Given the description of an element on the screen output the (x, y) to click on. 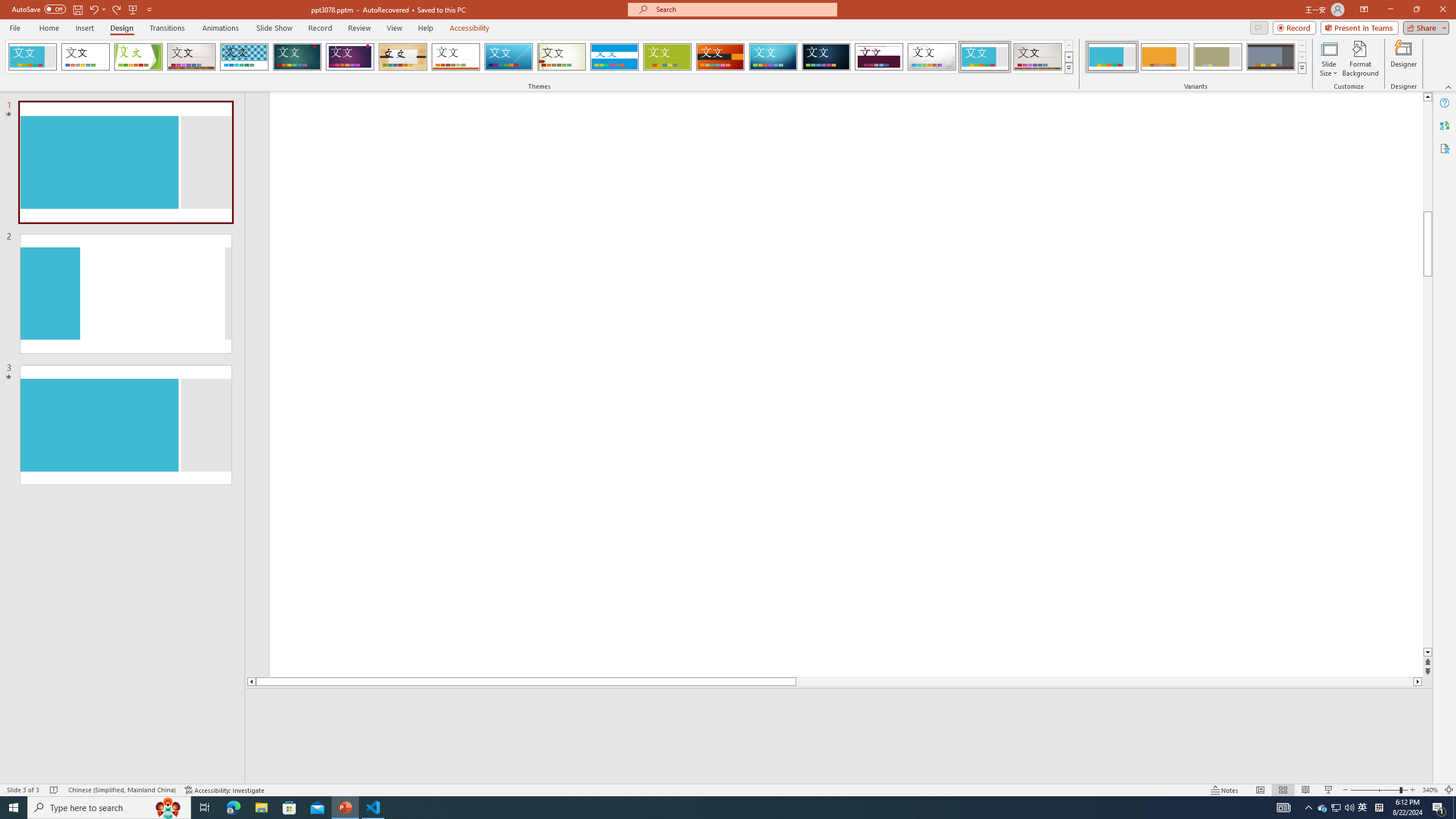
Facet (138, 56)
Slice (508, 56)
Dividend (879, 56)
AutomationID: SlideThemesGallery (539, 56)
Format Background (1360, 58)
Berlin (720, 56)
AutomationID: ThemeVariantsGallery (1195, 56)
